Given the description of an element on the screen output the (x, y) to click on. 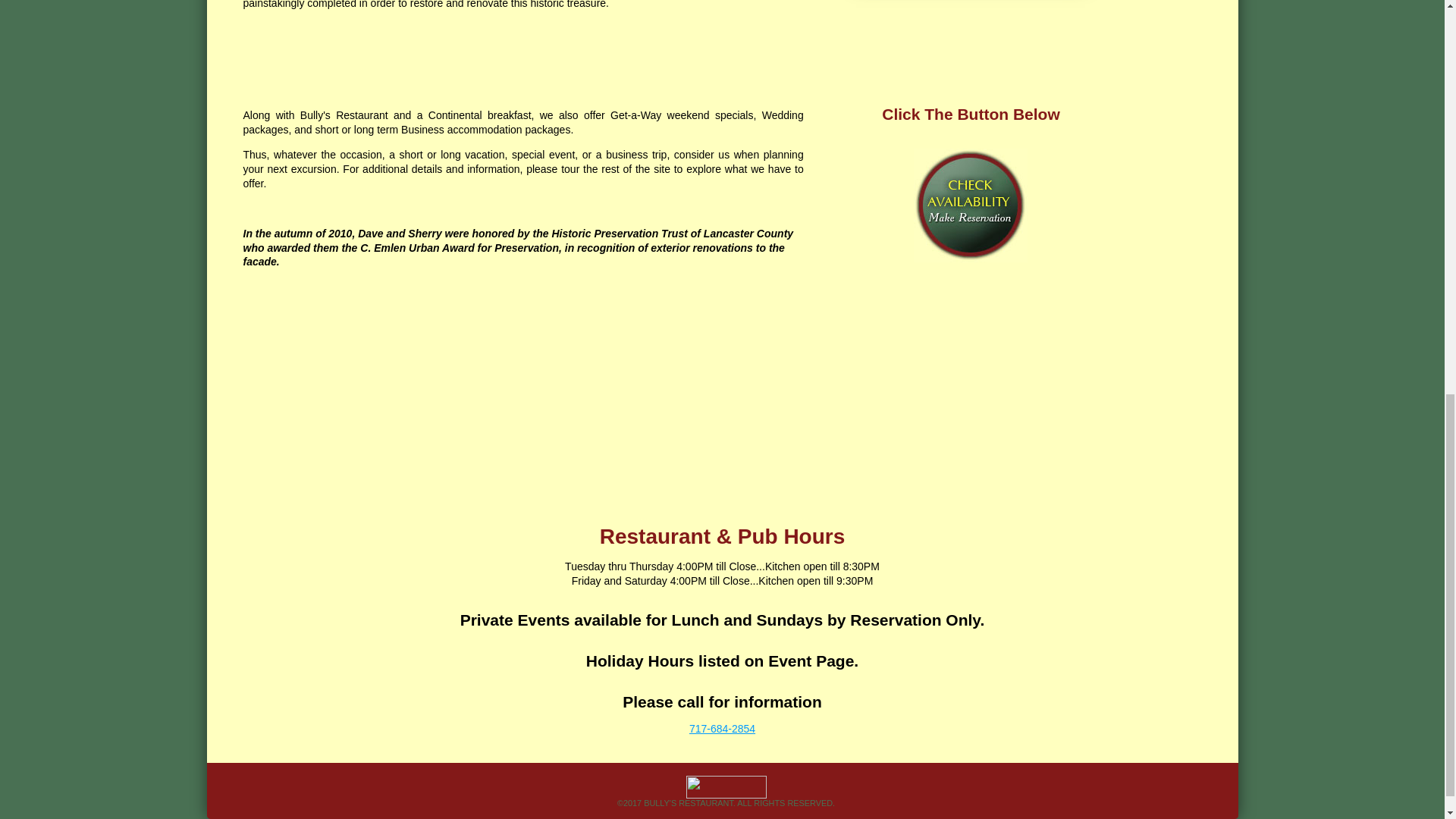
717-684-2854 (721, 728)
